Given the description of an element on the screen output the (x, y) to click on. 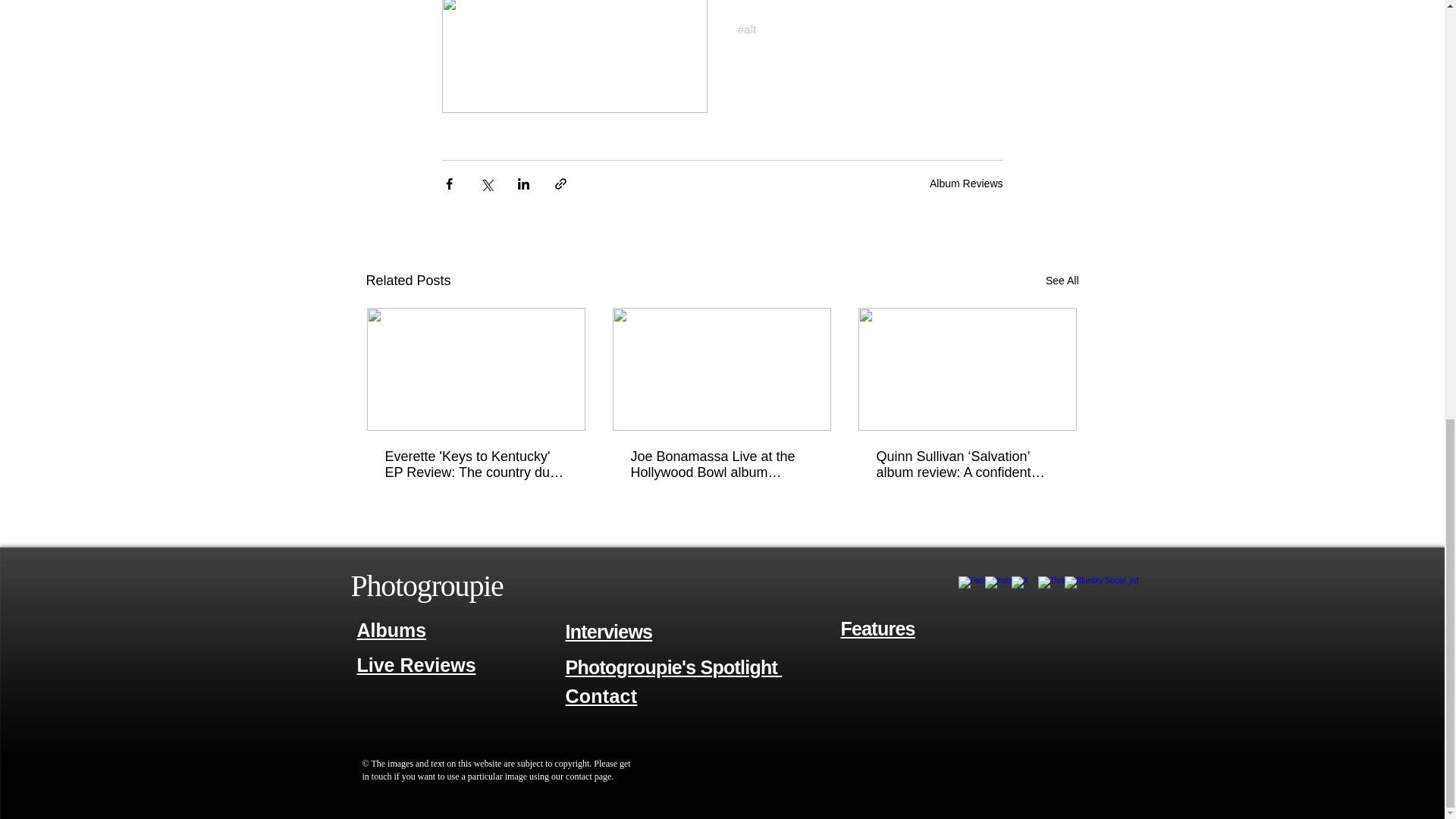
Album Reviews (966, 183)
Interviews (609, 631)
Contact (601, 696)
Live Reviews (416, 665)
Albums (391, 629)
Photogroupie's Spotlight  (674, 667)
See All (1061, 280)
Photogroupie (426, 585)
